Given the description of an element on the screen output the (x, y) to click on. 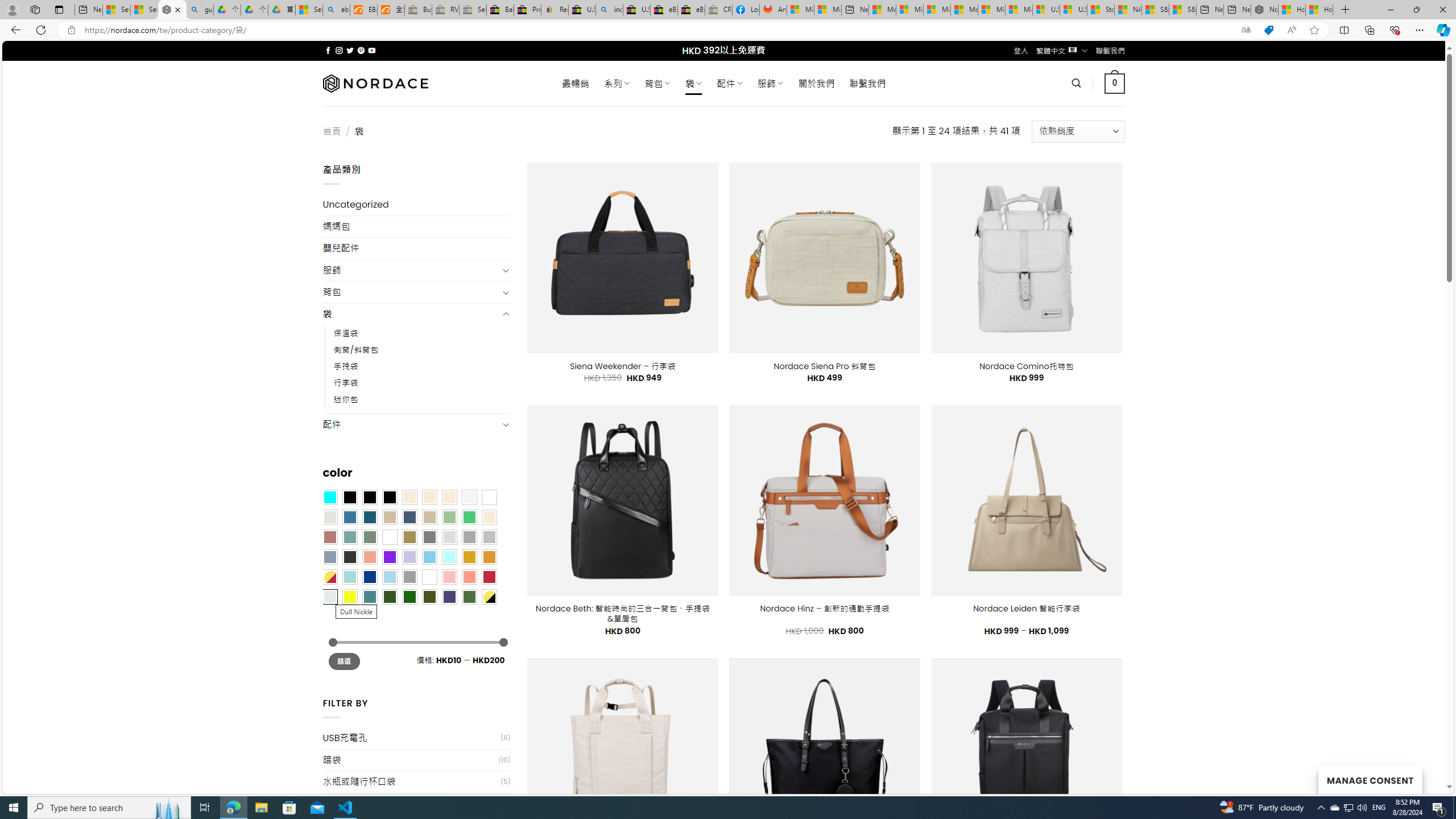
Uncategorized (416, 204)
Cream (449, 497)
